Given the description of an element on the screen output the (x, y) to click on. 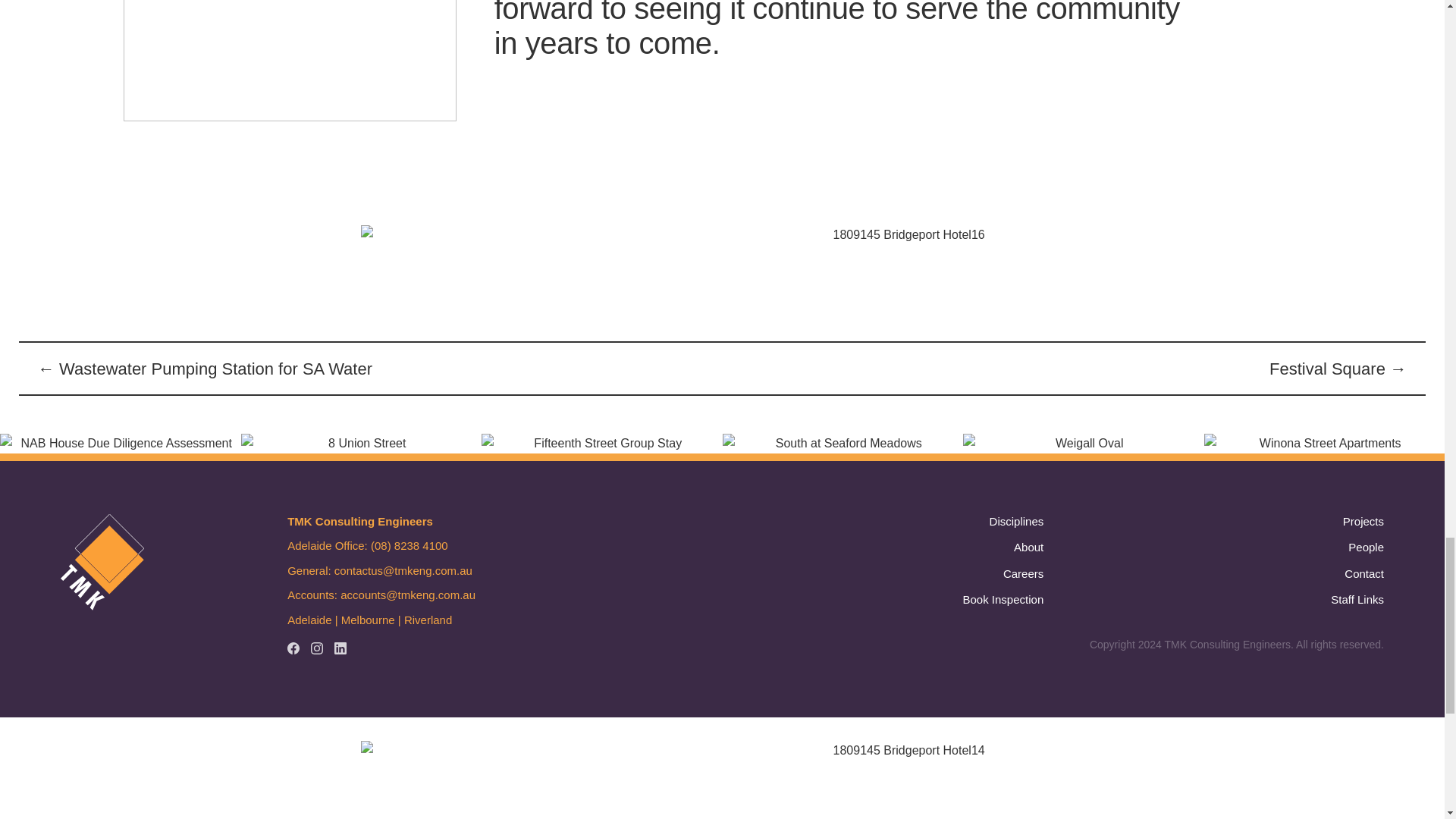
TMK on linkedIn (340, 648)
TMK on facebook (292, 648)
TMK on instagram (317, 648)
